Given the description of an element on the screen output the (x, y) to click on. 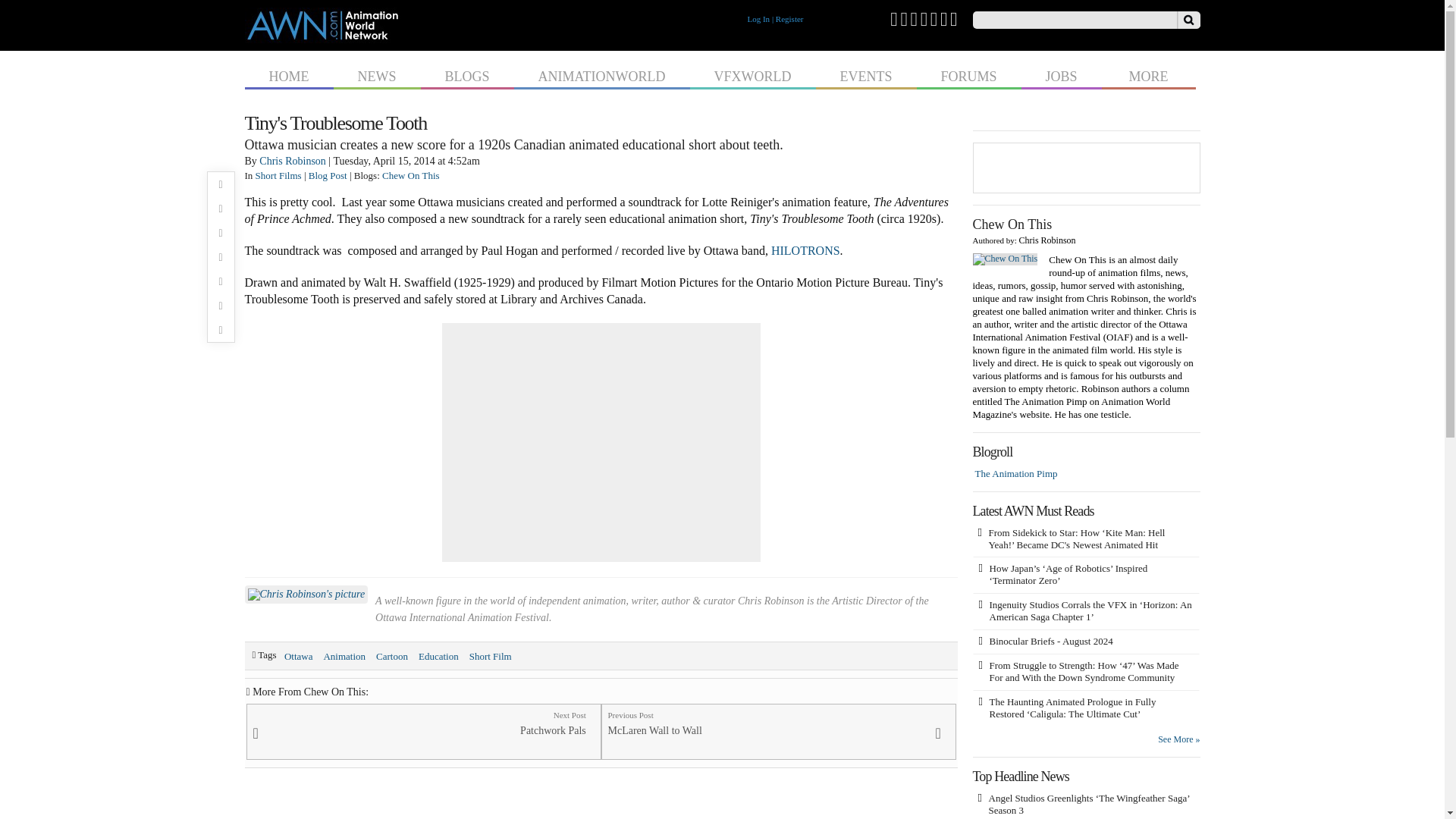
Animation World Network (321, 35)
HILOTRONS (805, 250)
Ottawa (298, 654)
Skip to main content (693, 1)
Enter the terms you wish to search for. (1074, 19)
EVENTS (866, 74)
Chew On This (410, 174)
FORUMS (967, 74)
Search (1187, 19)
Log In (758, 18)
